Given the description of an element on the screen output the (x, y) to click on. 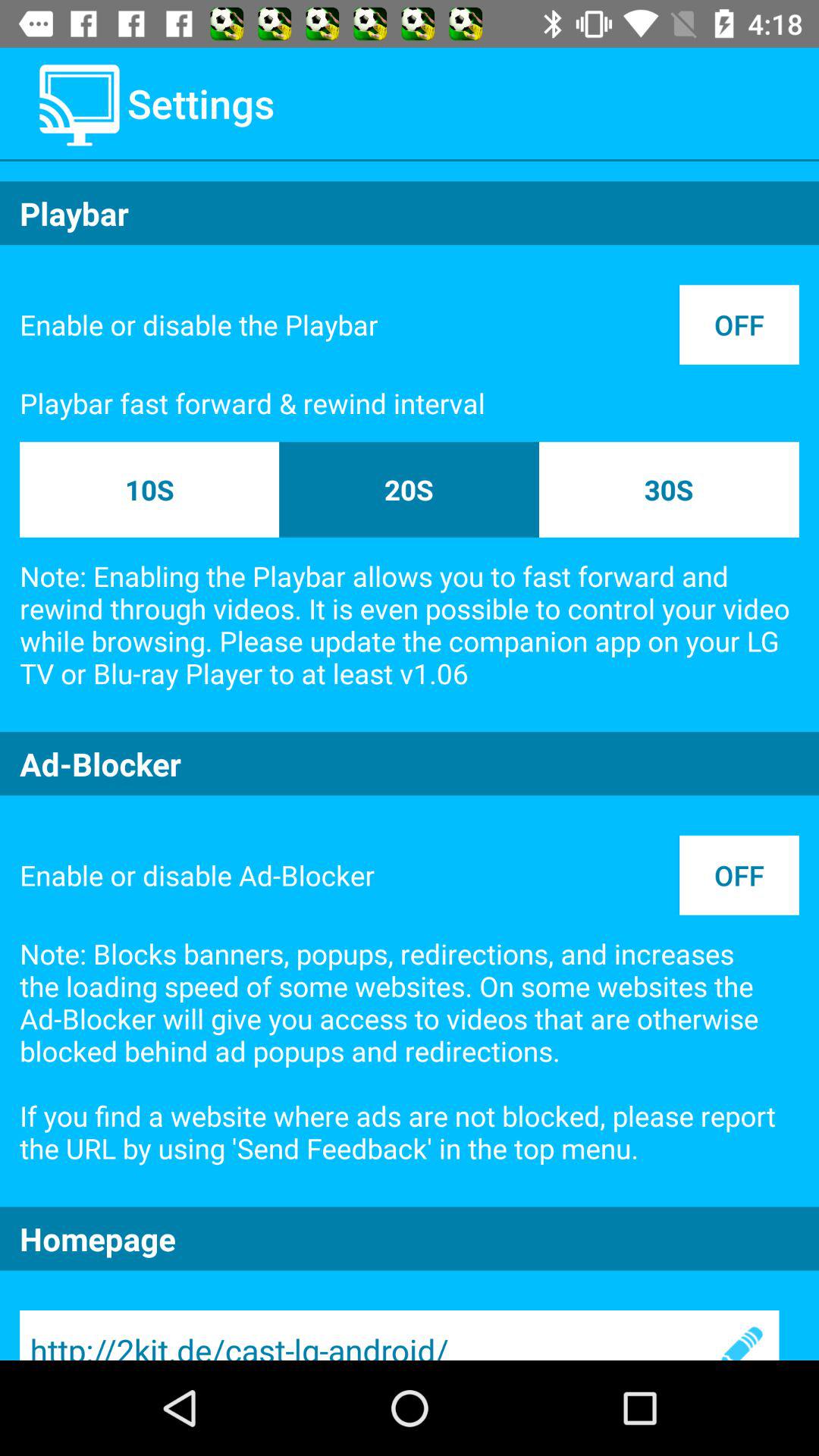
enter characters (739, 1335)
